Given the description of an element on the screen output the (x, y) to click on. 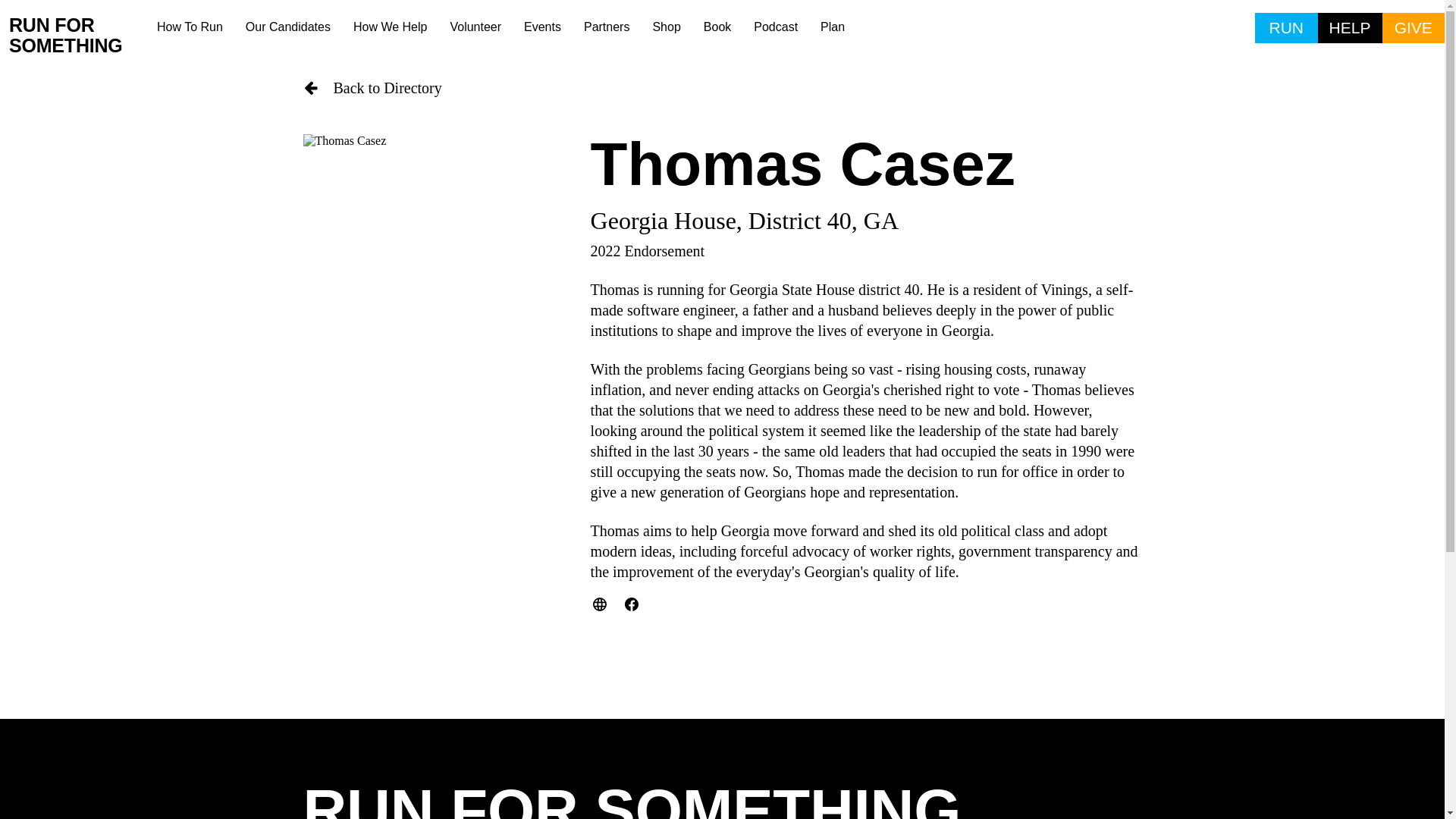
RUN FOR SOMETHING (631, 800)
HELP (1349, 28)
Back to Directory (721, 87)
Events (542, 27)
RUN FOR SOMETHING (76, 35)
Partners (606, 27)
Volunteer (475, 27)
How To Run (189, 27)
Podcast (775, 27)
Our Candidates (288, 27)
Plan (832, 27)
Book (717, 27)
How We Help (390, 27)
RUN (1286, 28)
Shop (665, 27)
